Given the description of an element on the screen output the (x, y) to click on. 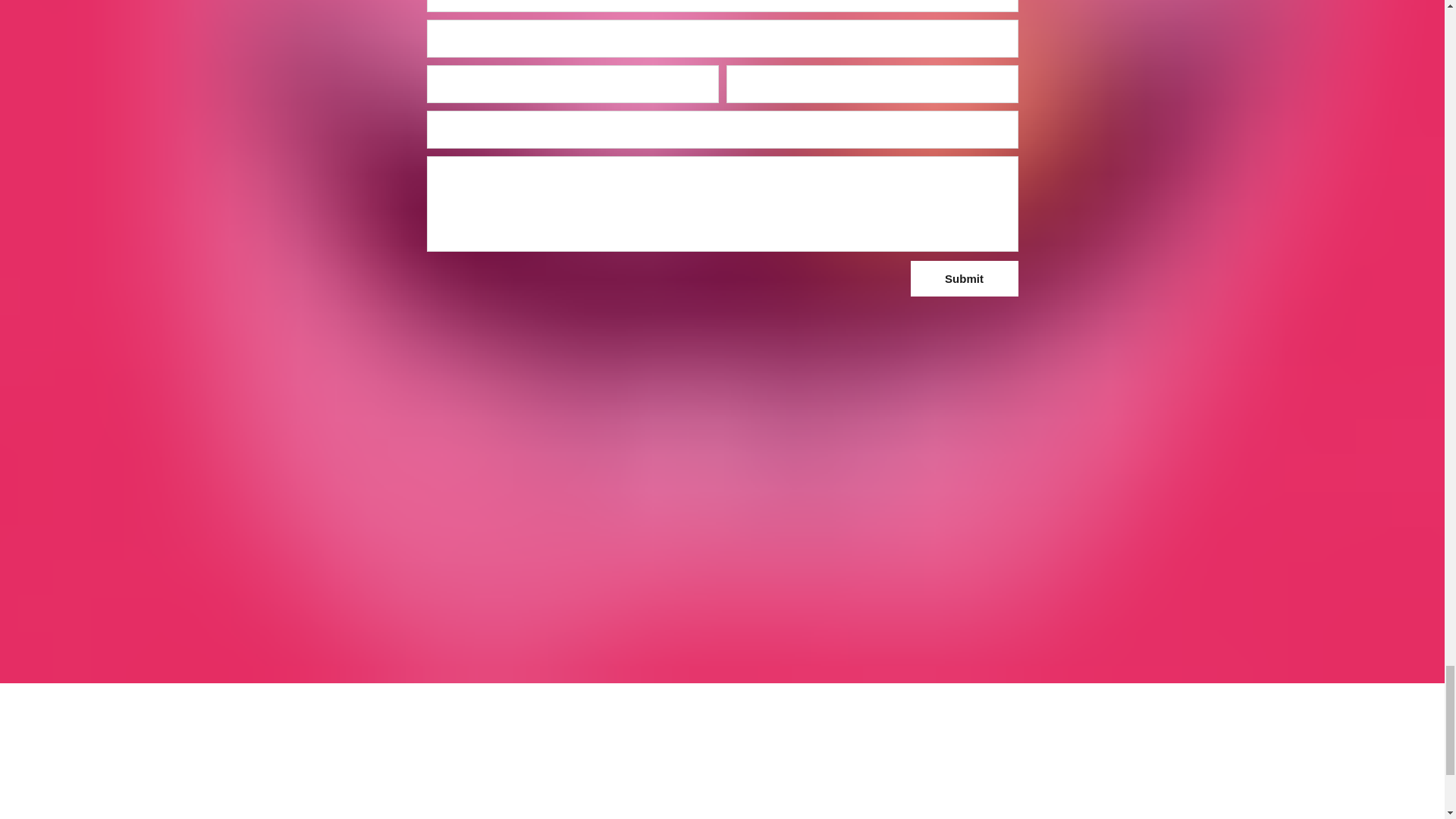
Submit (963, 278)
